Given the description of an element on the screen output the (x, y) to click on. 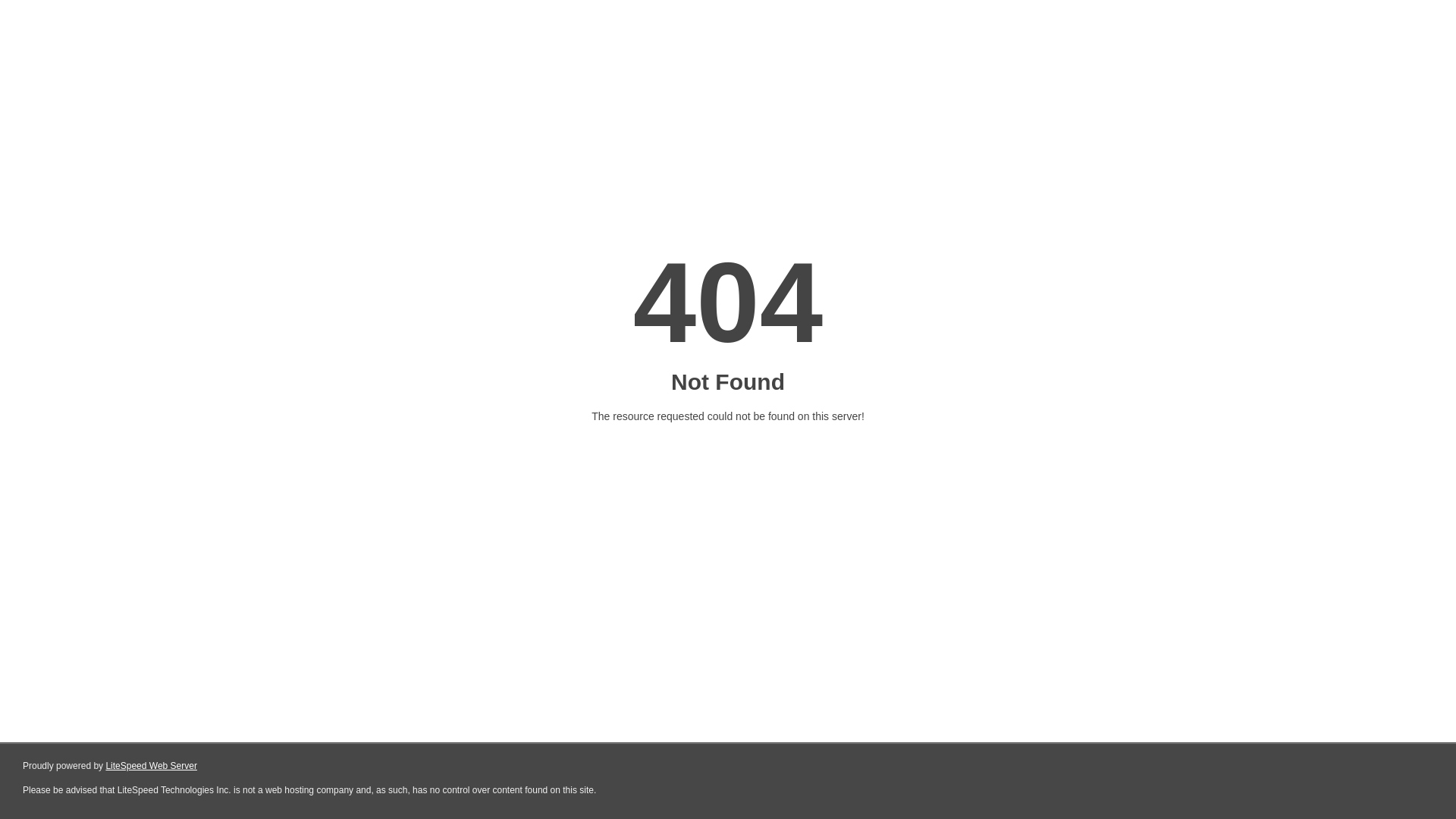
LiteSpeed Web Server Element type: text (151, 765)
